Given the description of an element on the screen output the (x, y) to click on. 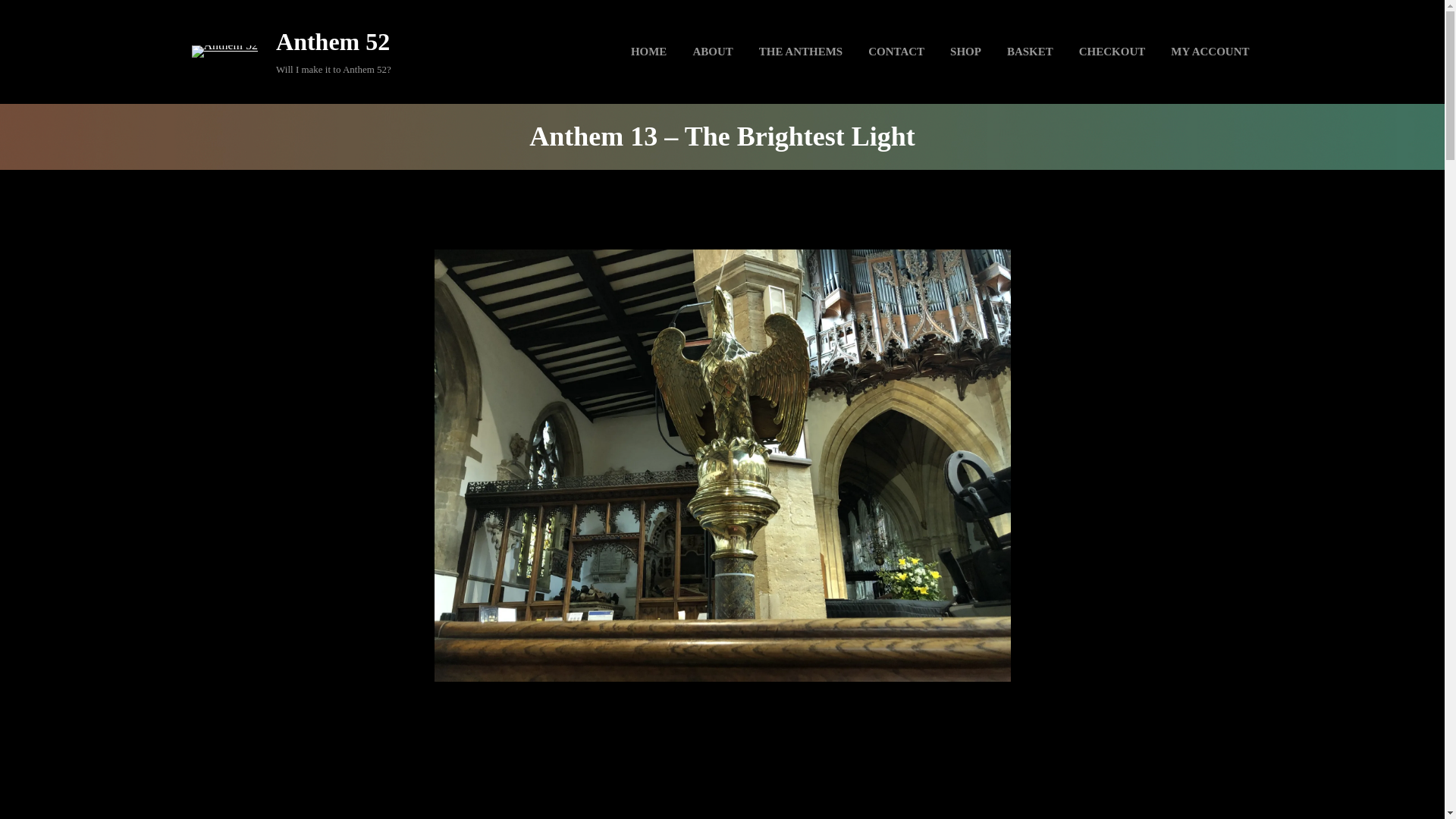
THE ANTHEMS (800, 51)
Anthem 52 (333, 41)
CHECKOUT (1112, 51)
Embed Player (721, 769)
HOME (649, 51)
ABOUT (712, 51)
BASKET (1030, 51)
CONTACT (896, 51)
MY ACCOUNT (1209, 51)
SHOP (965, 51)
